Given the description of an element on the screen output the (x, y) to click on. 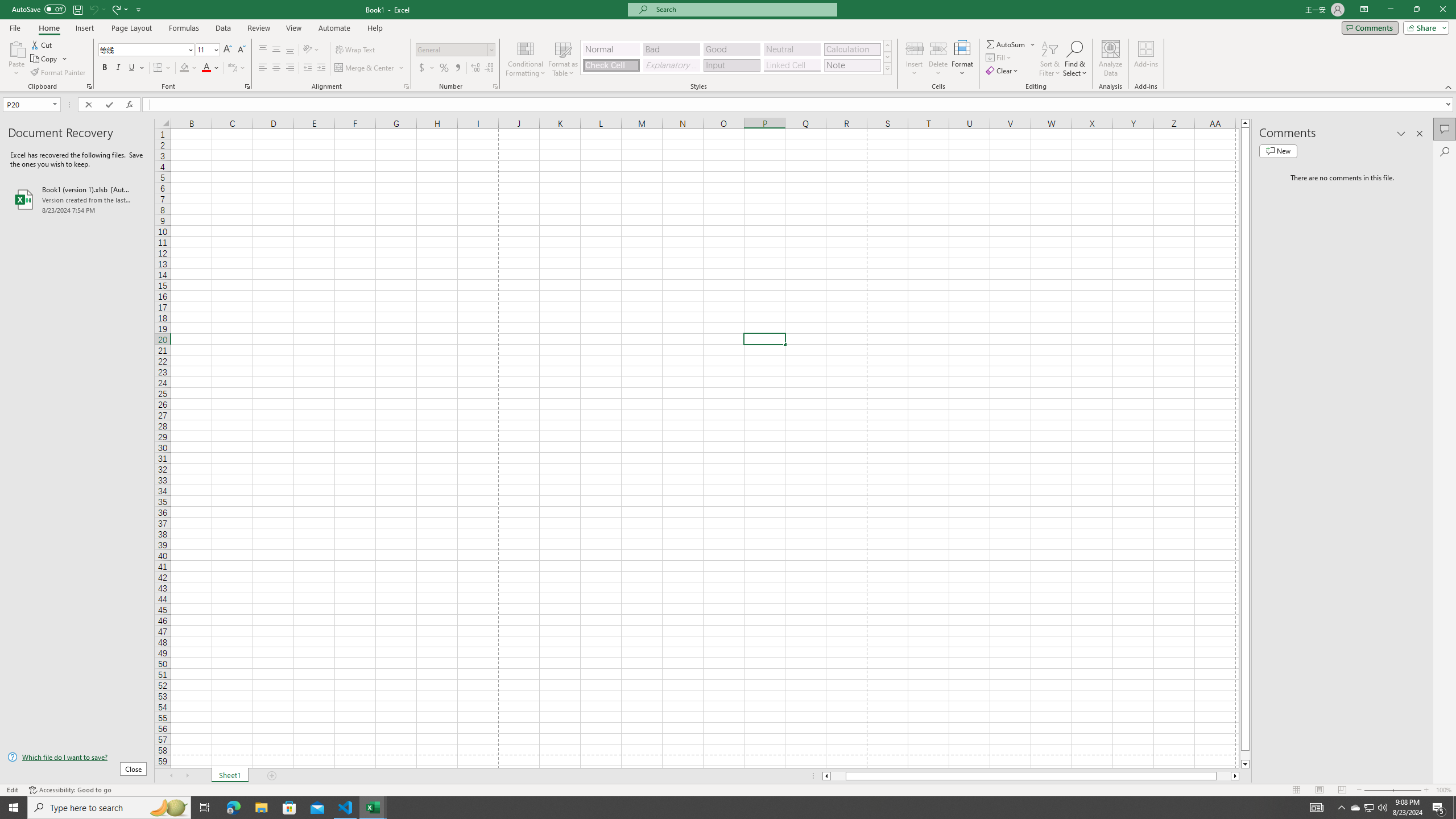
Undo (92, 9)
Delete Cells... (938, 48)
Page right (1223, 775)
Automate (334, 28)
Help (374, 28)
Ribbon Display Options (1364, 9)
Insert (914, 58)
Wrap Text (355, 49)
Decrease Decimal (489, 67)
Comma Style (457, 67)
Align Left (262, 67)
Class: NetUIImage (887, 68)
Page Layout (1318, 790)
Column left (826, 775)
